Given the description of an element on the screen output the (x, y) to click on. 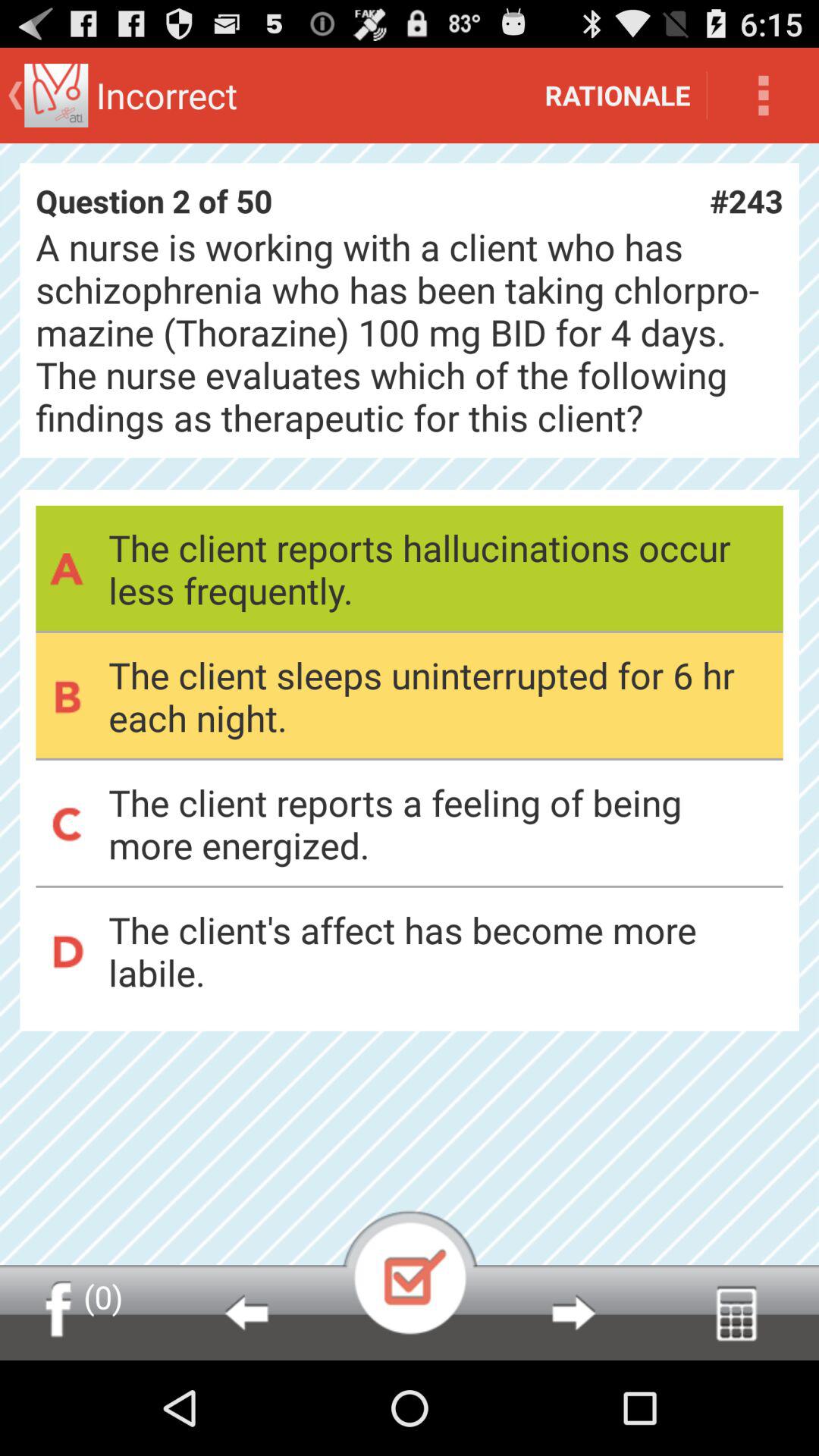
selected button (409, 1272)
